Given the description of an element on the screen output the (x, y) to click on. 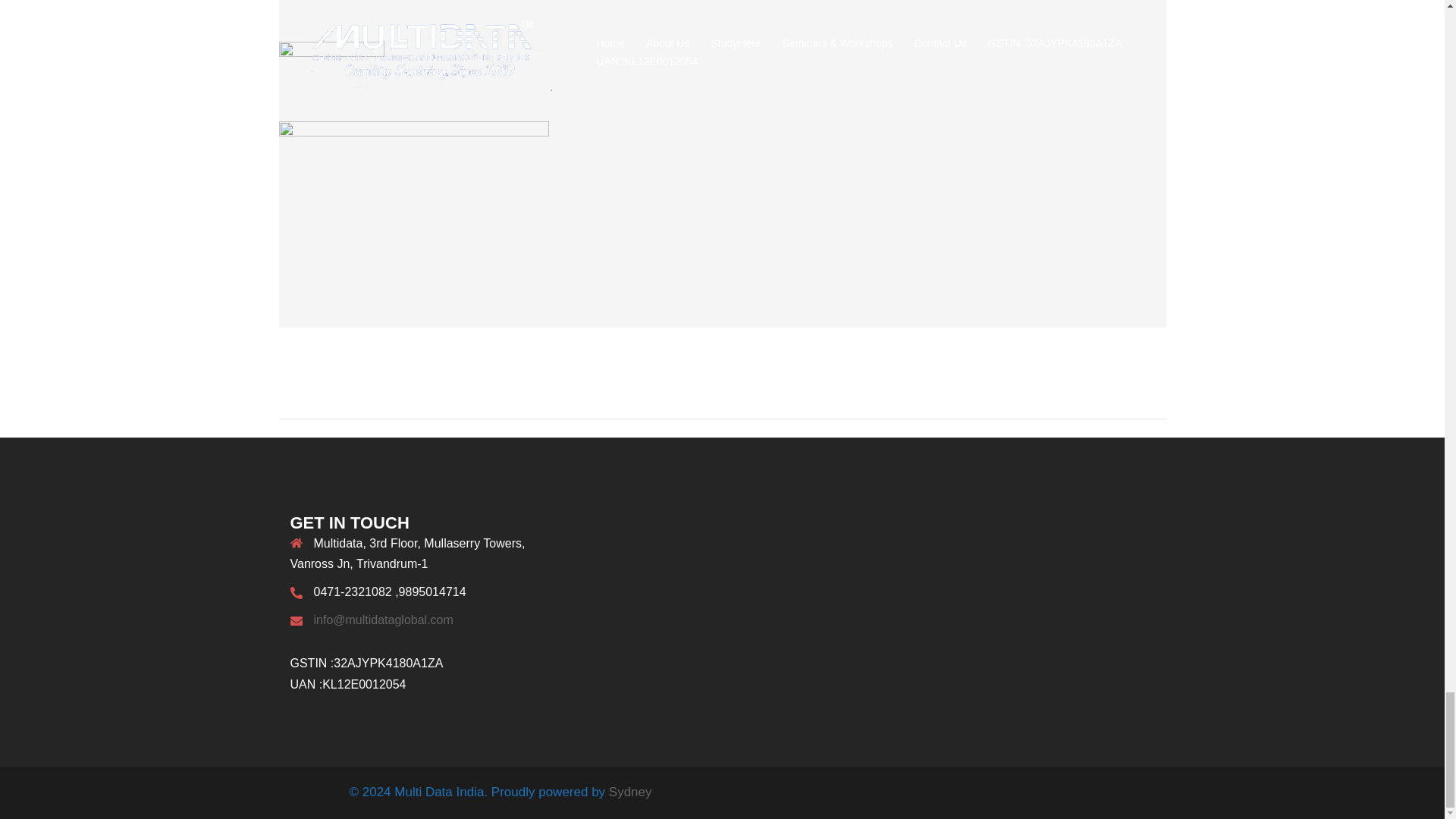
Sydney (630, 791)
